Given the description of an element on the screen output the (x, y) to click on. 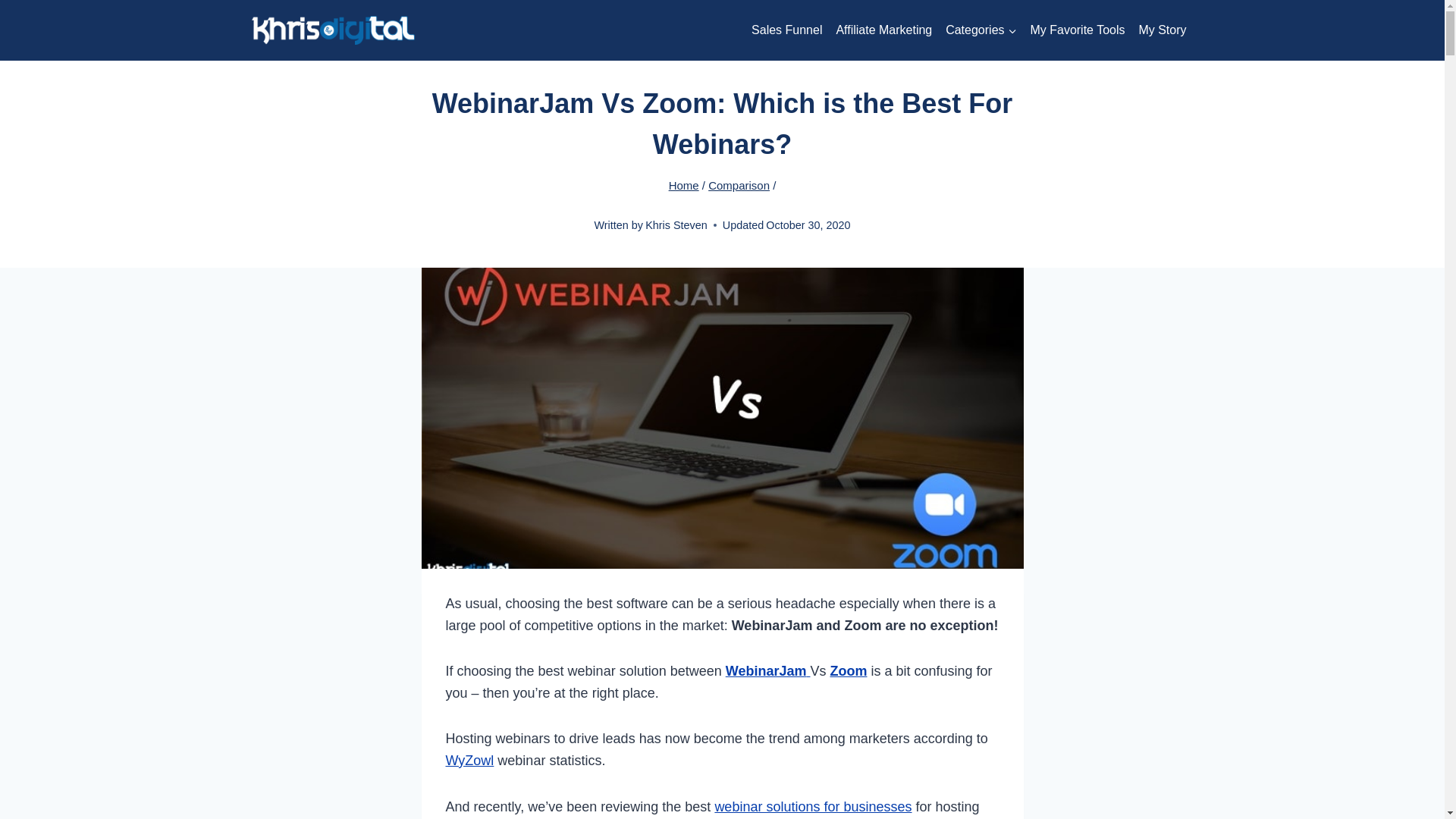
webinar solutions for businesses (812, 806)
Home (683, 185)
Sales Funnel (786, 29)
Categories (981, 29)
WebinarJam (767, 670)
My Story (1161, 29)
Zoom (847, 670)
WyZowl (470, 760)
My Favorite Tools (1077, 29)
Affiliate Marketing (883, 29)
